Given the description of an element on the screen output the (x, y) to click on. 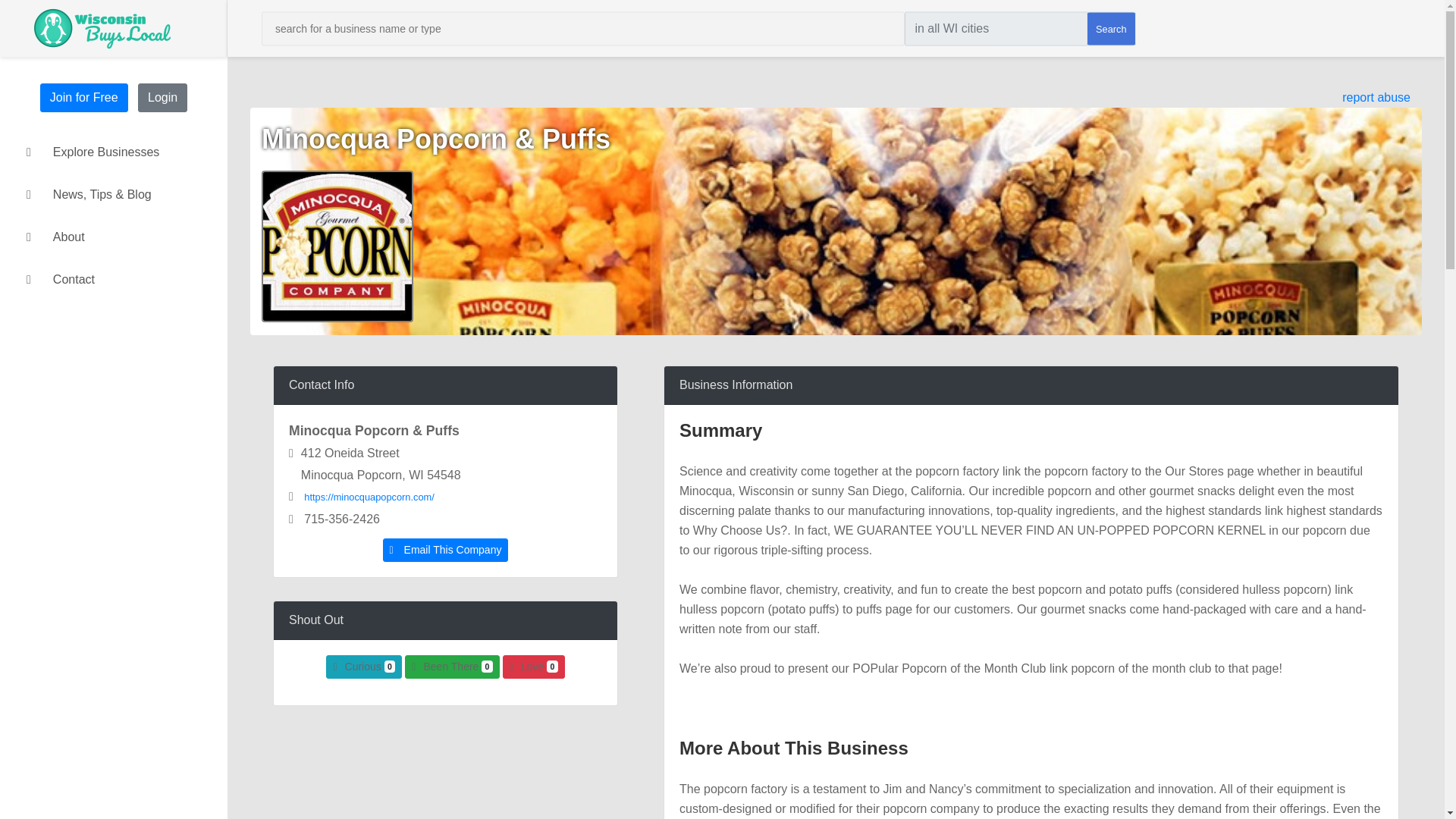
report abuse (1376, 97)
Search (1110, 28)
Been There 0 (451, 666)
Join for Free (84, 97)
About (113, 237)
Love 0 (533, 666)
Contact (113, 279)
Explore Businesses (113, 152)
Curious 0 (363, 666)
Email This Company (445, 549)
Login (162, 97)
Advertisement (445, 773)
